Given the description of an element on the screen output the (x, y) to click on. 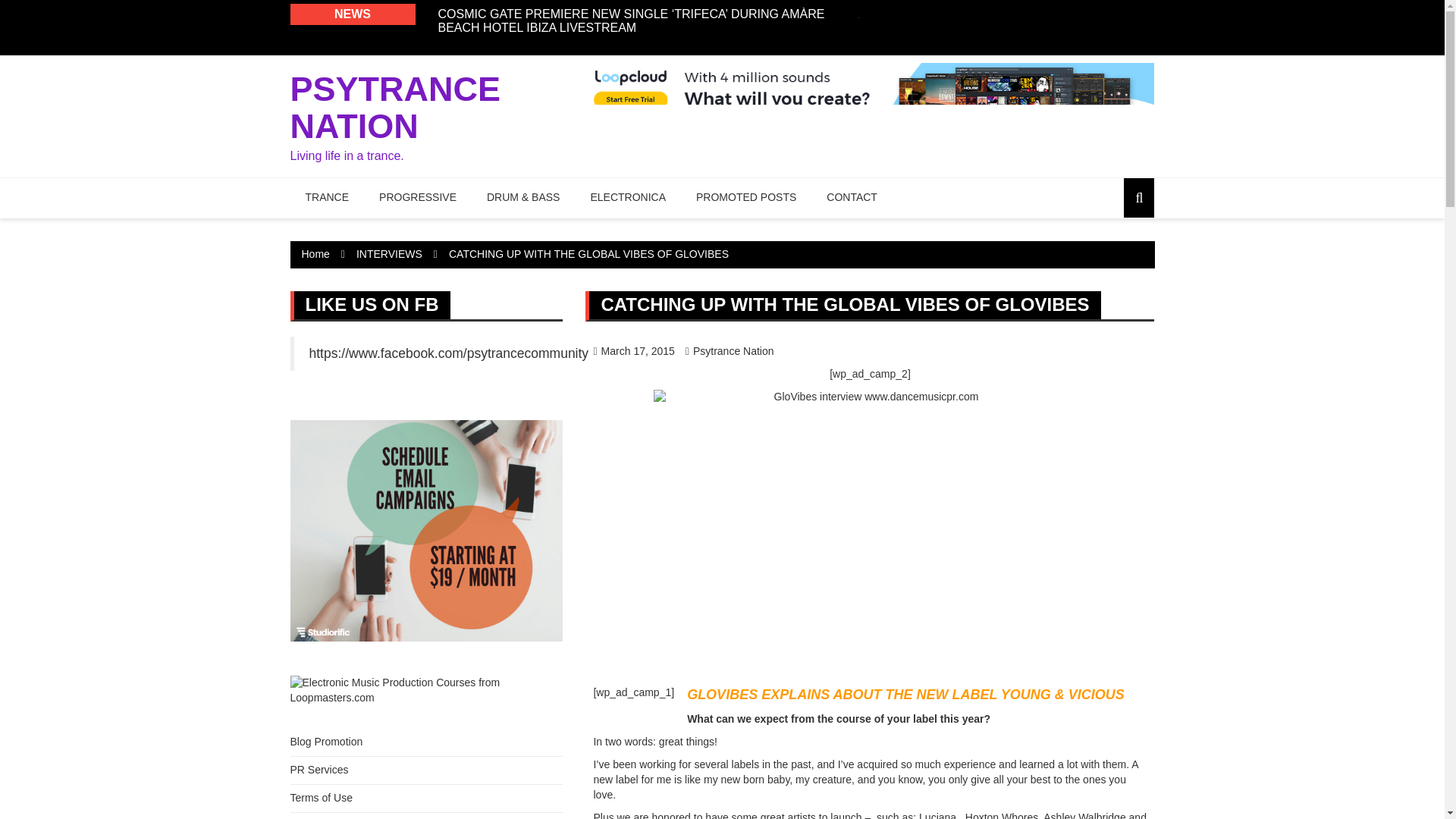
Blog Promotion (325, 741)
Electronic Music Production Courses from Loopmasters.com (425, 690)
PROGRESSIVE (417, 197)
March 17, 2015 (633, 350)
Publicity for the global dance music industry (318, 769)
Home (315, 254)
CONTACT (851, 197)
ELECTRONICA (628, 197)
INTERVIEWS (389, 254)
PR Services (318, 769)
